Given the description of an element on the screen output the (x, y) to click on. 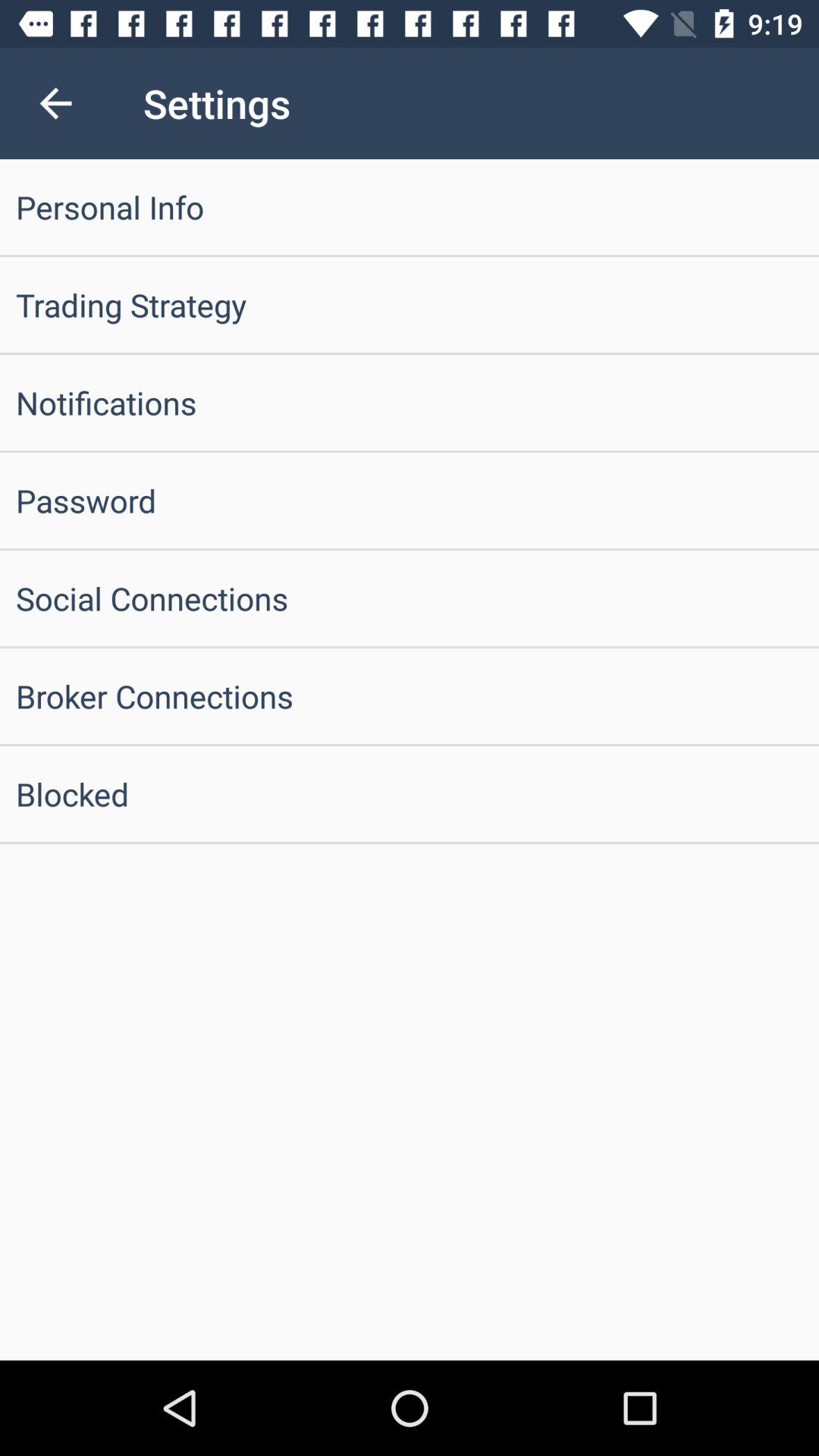
launch icon below the trading strategy (409, 402)
